Given the description of an element on the screen output the (x, y) to click on. 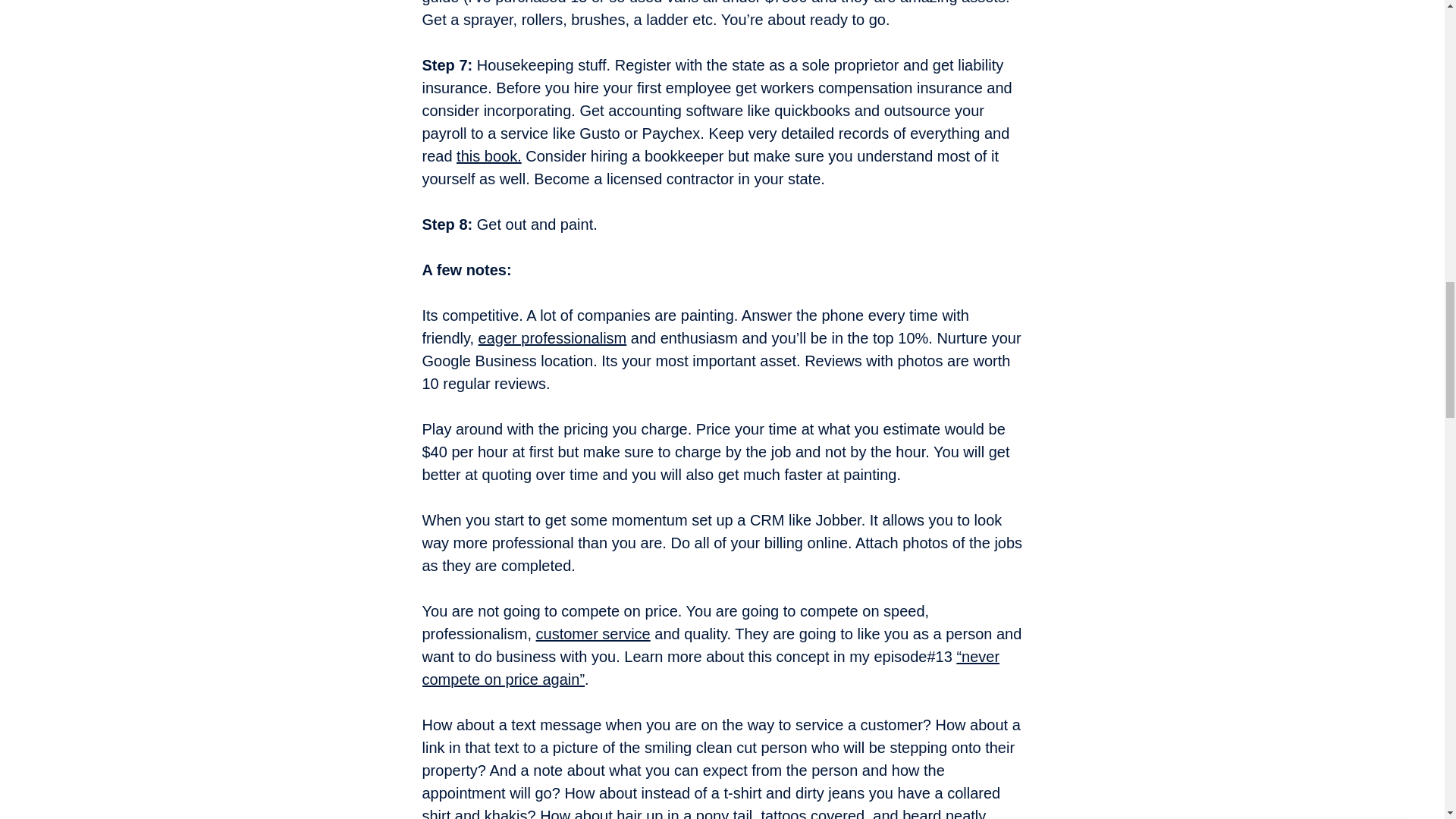
eager professionalism (553, 338)
customer service (592, 633)
this book. (489, 156)
